Given the description of an element on the screen output the (x, y) to click on. 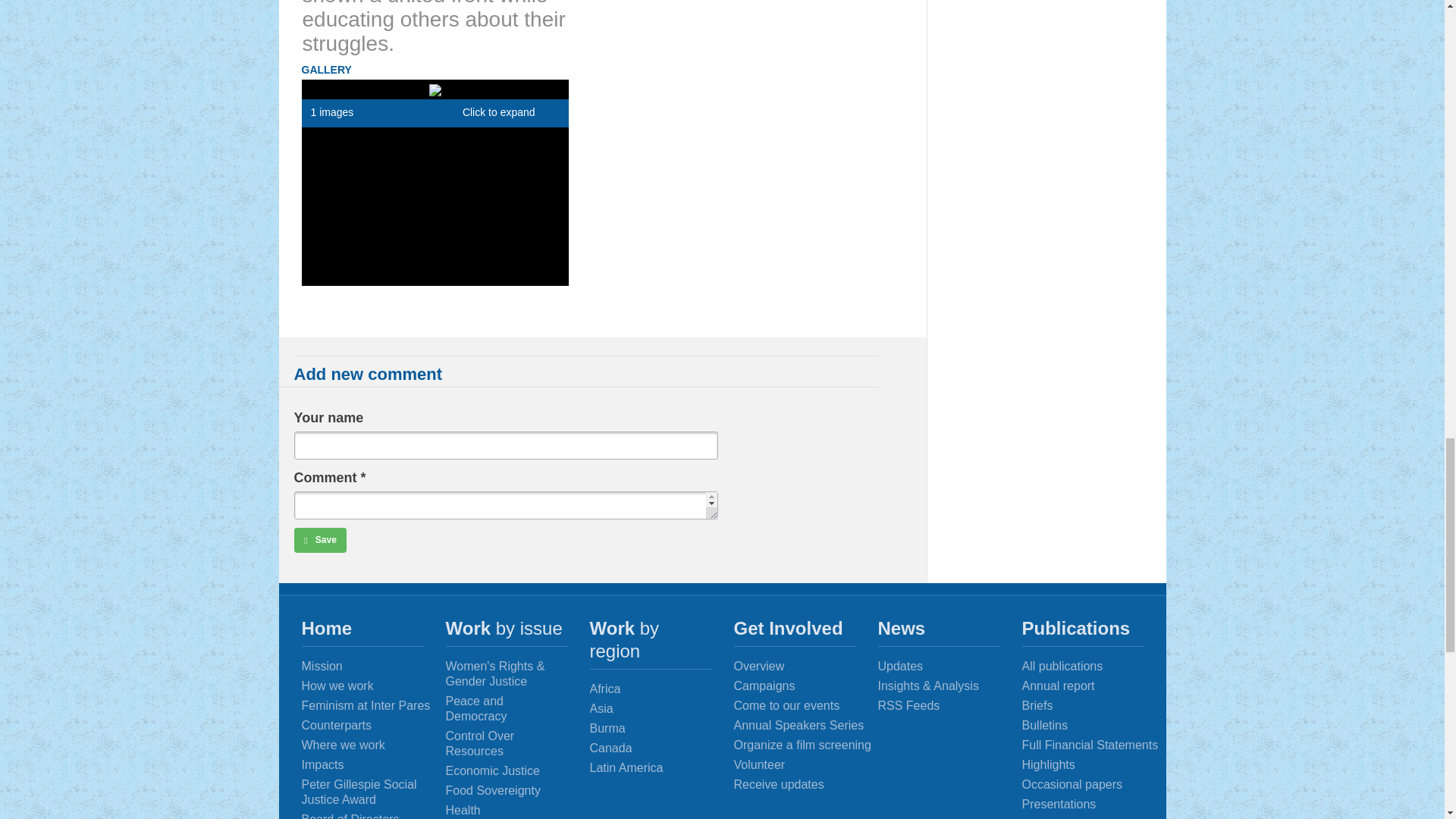
This field is required. (363, 477)
Upcoming events (806, 705)
